Given the description of an element on the screen output the (x, y) to click on. 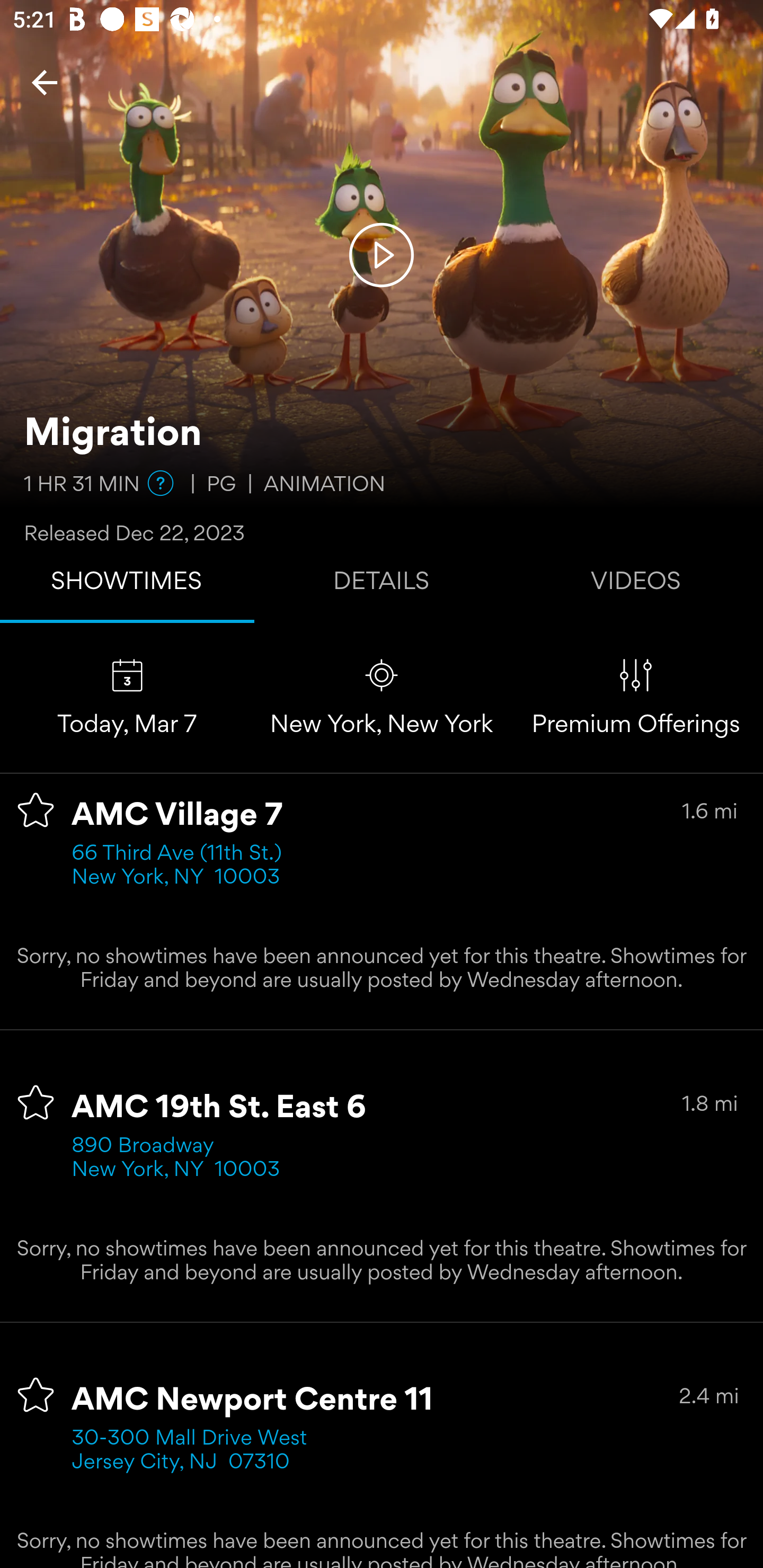
Back (44, 82)
Play (381, 254)
Help (160, 482)
SHOWTIMES
Tab 1 of 3 (127, 584)
DETAILS
Tab 2 of 3 (381, 584)
VIDEOS
Tab 3 of 3 (635, 584)
Change selected day
Today, Mar 7 (127, 697)
Change location
New York, New York (381, 697)
Premium Offerings
Premium Offerings (635, 697)
AMC Village 7 (177, 816)
66 Third Ave (11th St.)  
New York, NY  10003 (182, 866)
AMC 19th St. East 6 (219, 1108)
890 Broadway  
New York, NY  10003 (176, 1158)
AMC Newport Centre 11 (252, 1400)
30-300 Mall Drive West  
Jersey City, NJ  07310 (195, 1450)
